Given the description of an element on the screen output the (x, y) to click on. 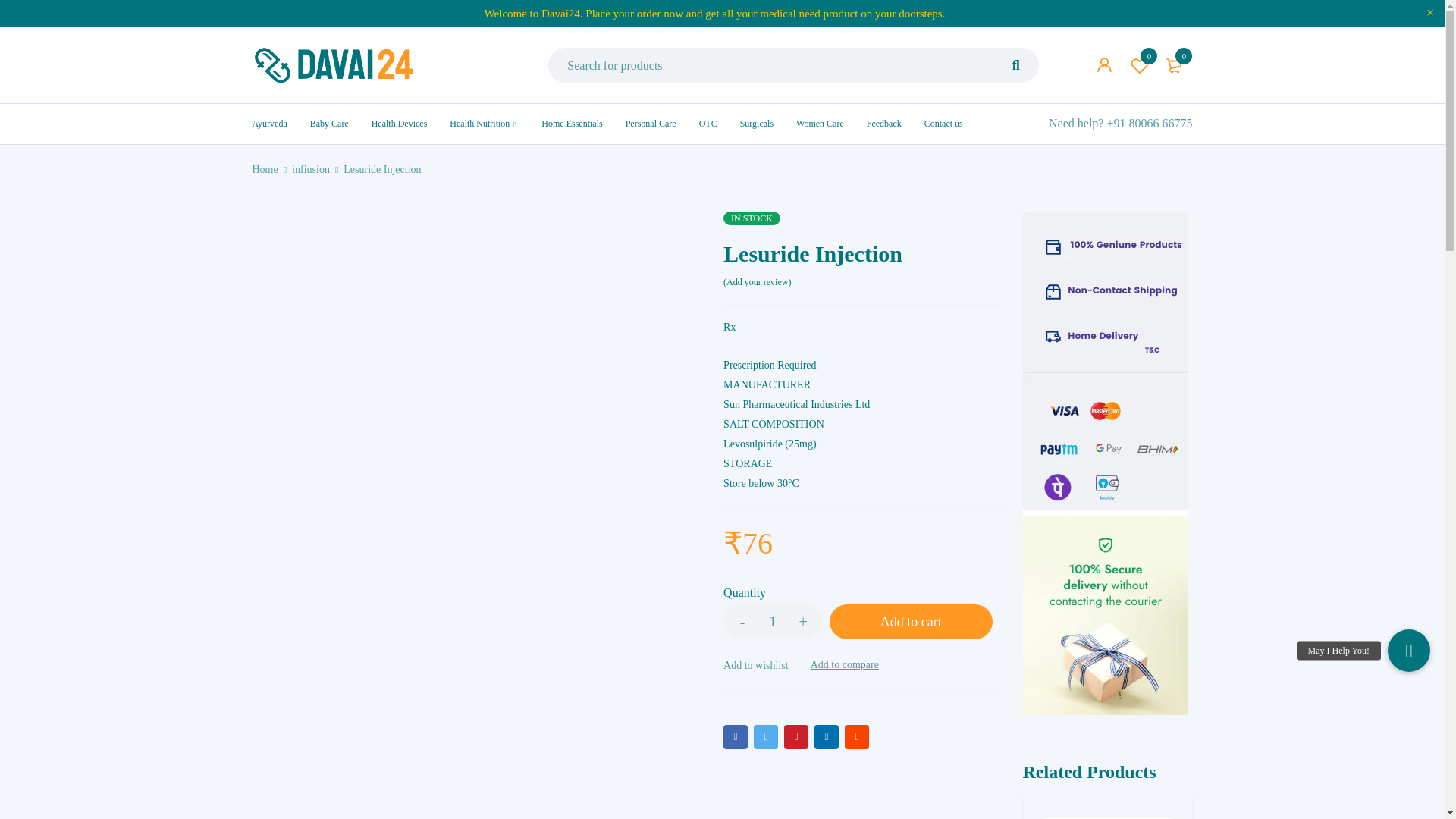
Health Devices (399, 123)
Women Care (820, 123)
Feedback (883, 123)
Home (264, 169)
Home Essentials (571, 123)
View your shopping cart (1174, 64)
Personal Care (651, 123)
Surgicals (756, 123)
Contact us (943, 123)
- (742, 621)
infiusion (311, 169)
MyMedi (332, 65)
0 (1174, 64)
Wishlist (1139, 64)
